Given the description of an element on the screen output the (x, y) to click on. 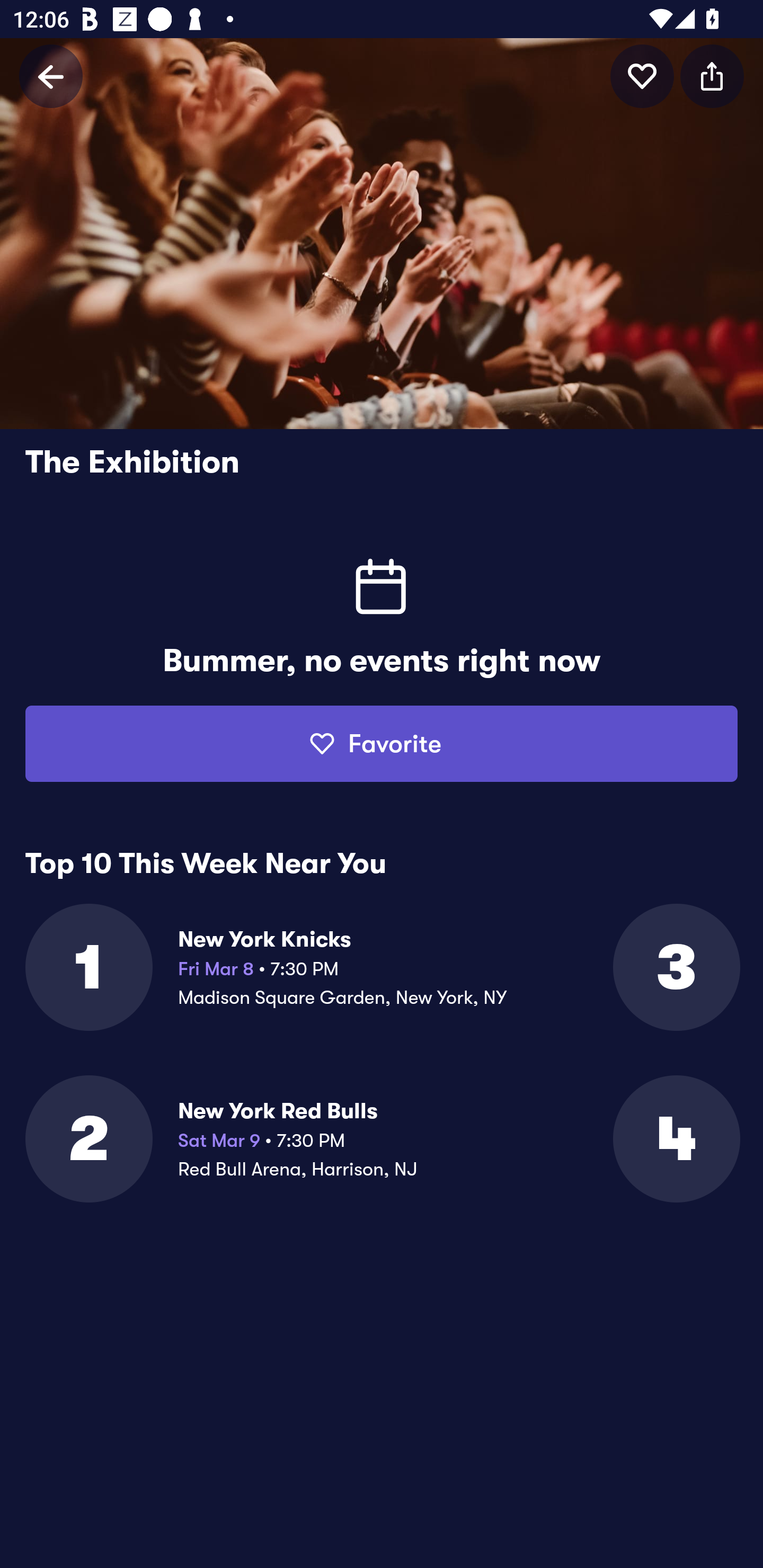
Back (50, 75)
icon button (641, 75)
icon button (711, 75)
Favorite (381, 743)
3 (675, 967)
4 (675, 1138)
